Given the description of an element on the screen output the (x, y) to click on. 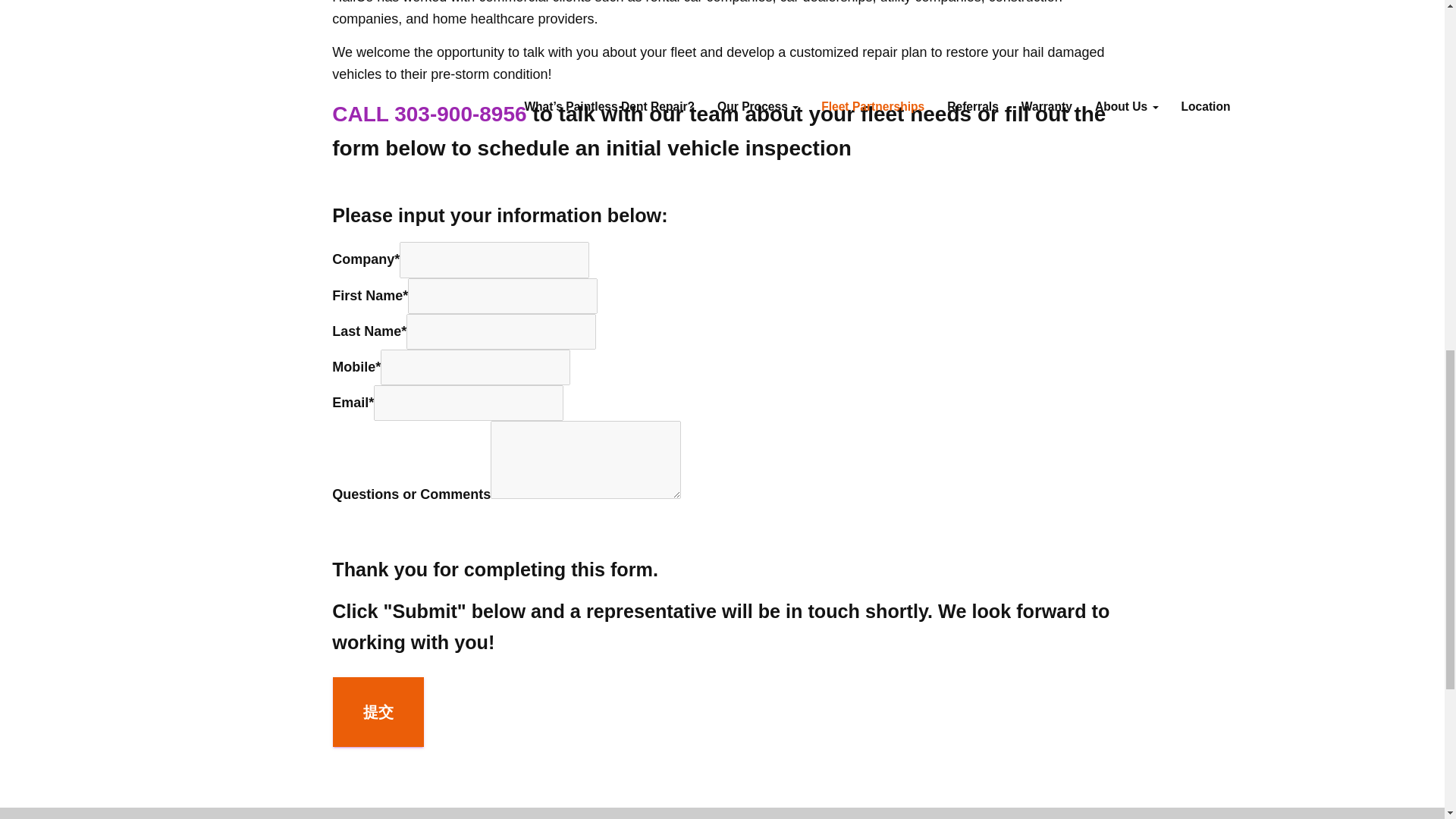
CALL 303-900-8956 (428, 114)
